Given the description of an element on the screen output the (x, y) to click on. 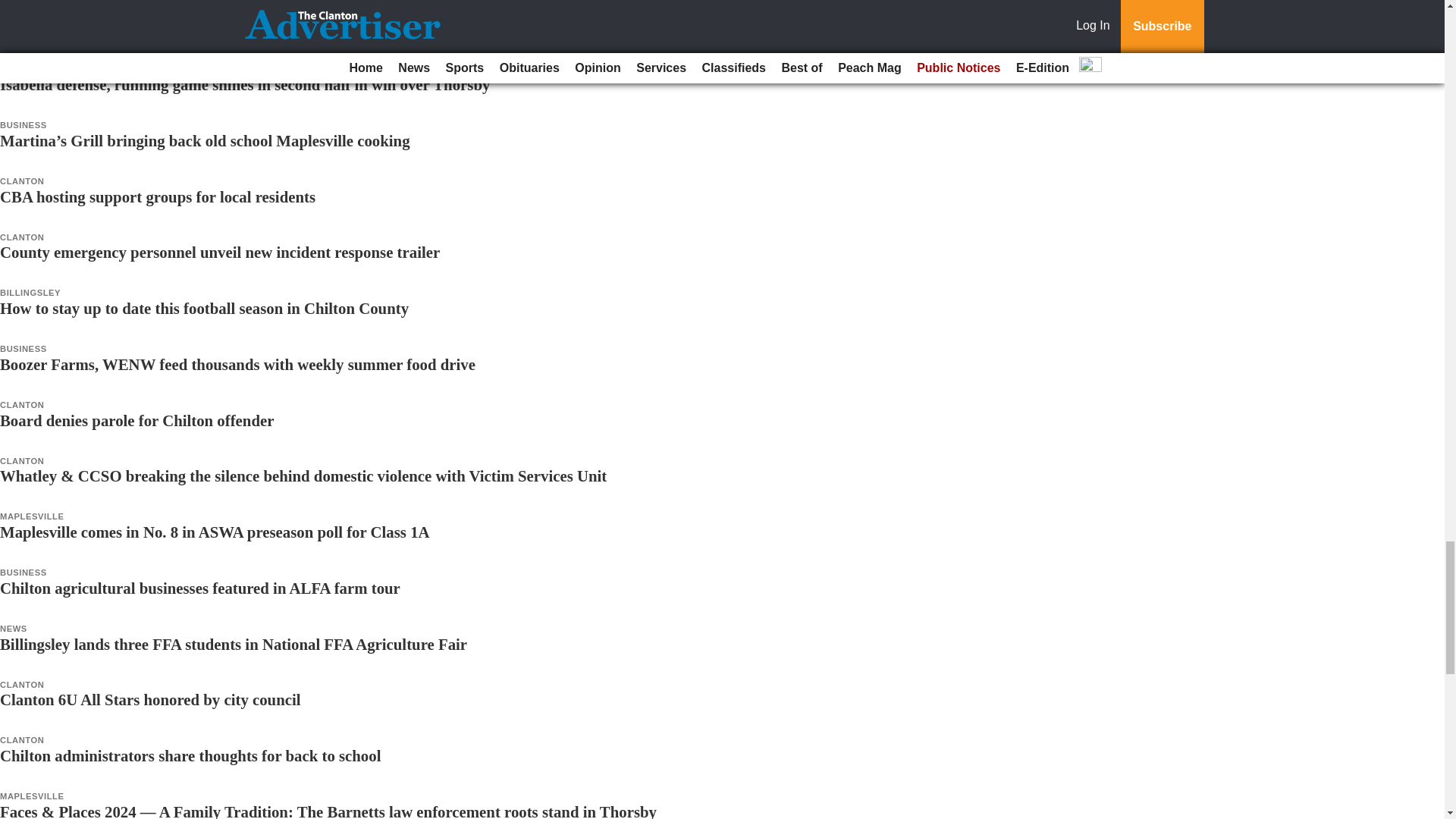
Chilton agricultural businesses featured in ALFA farm tour (200, 588)
Board denies parole for Chilton offender (136, 420)
CBA hosting support groups for local residents (157, 196)
CAEC, Central Access moves to new office in Clanton (181, 27)
